Given the description of an element on the screen output the (x, y) to click on. 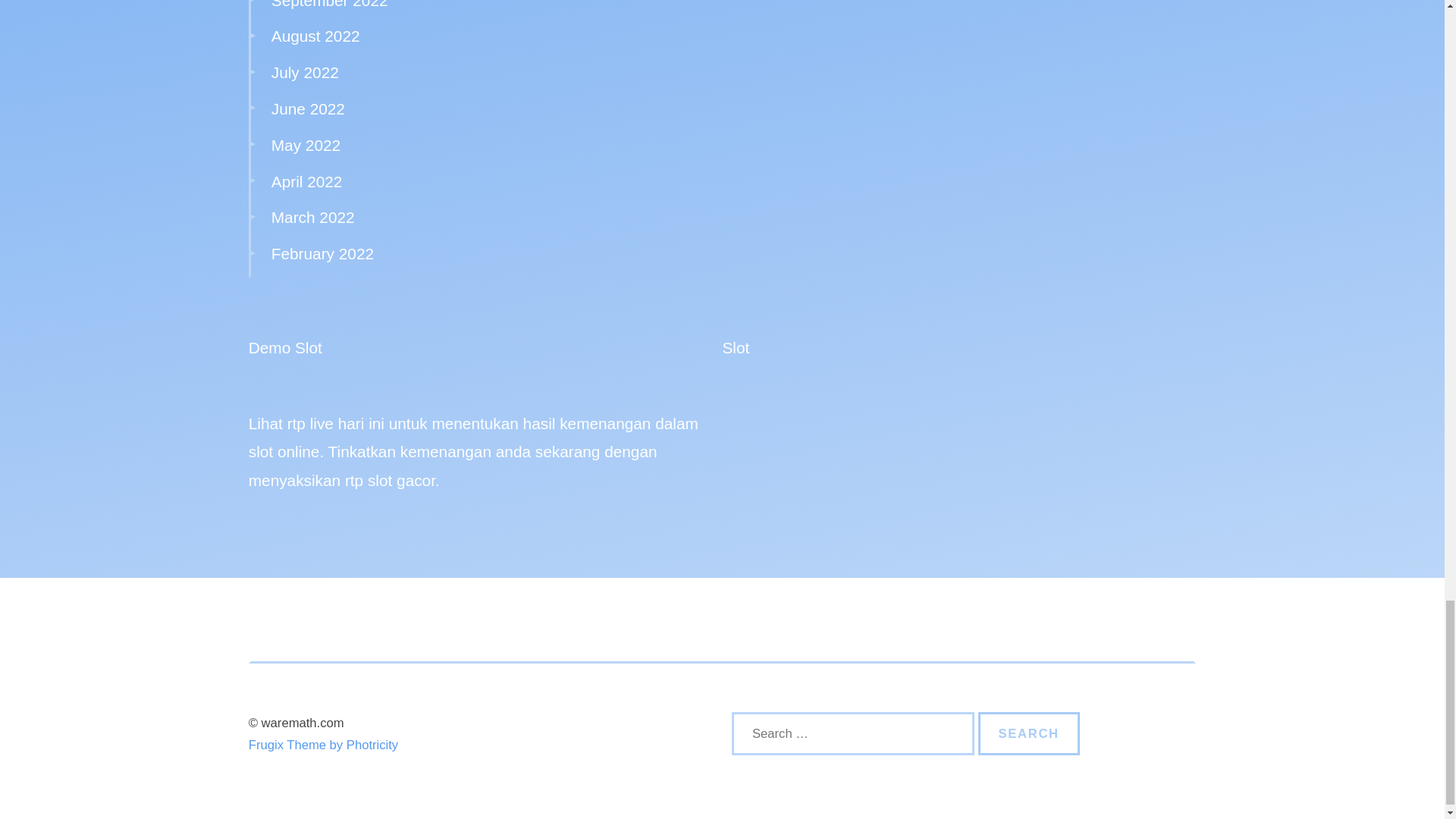
July 2022 (304, 72)
June 2022 (307, 108)
Search (1029, 733)
August 2022 (314, 36)
September 2022 (329, 4)
May 2022 (305, 144)
Search (1029, 733)
